Given the description of an element on the screen output the (x, y) to click on. 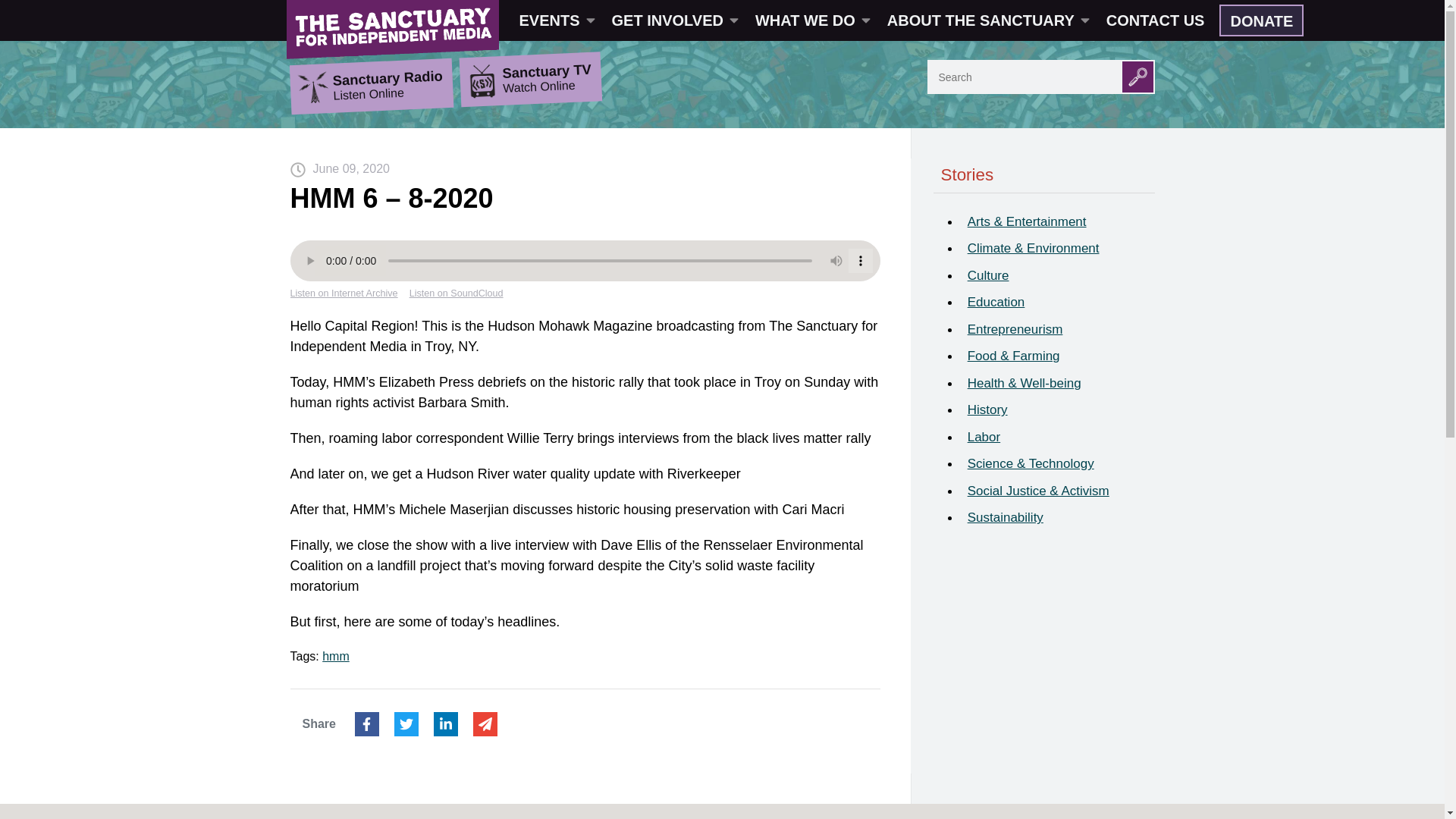
EVENTS (555, 20)
ABOUT THE SANCTUARY (987, 20)
GET INVOLVED (673, 20)
WHAT WE DO (811, 20)
